Given the description of an element on the screen output the (x, y) to click on. 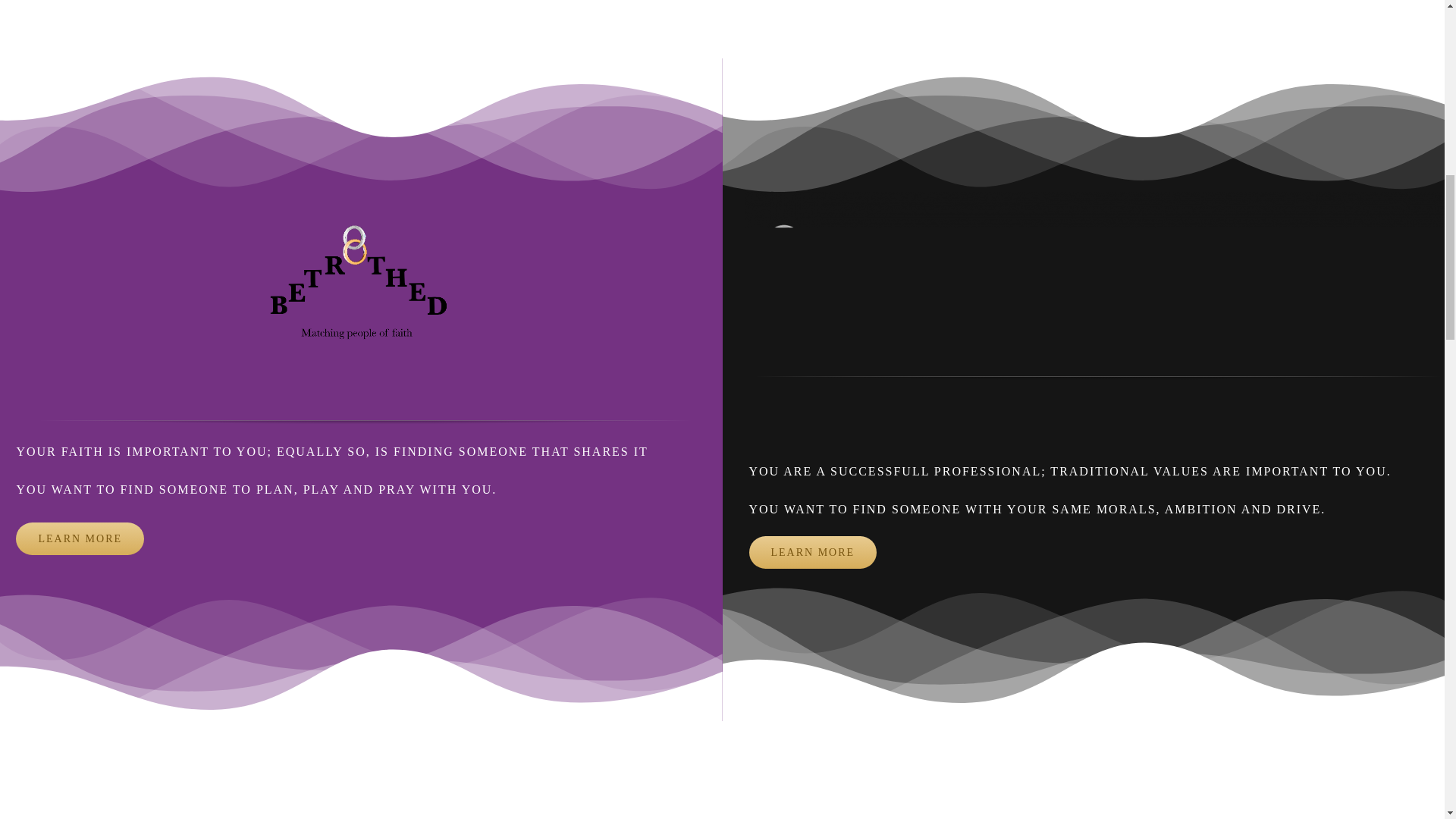
LEARN MORE (813, 552)
betrothed new logo (365, 302)
LEARN MORE (80, 538)
